Given the description of an element on the screen output the (x, y) to click on. 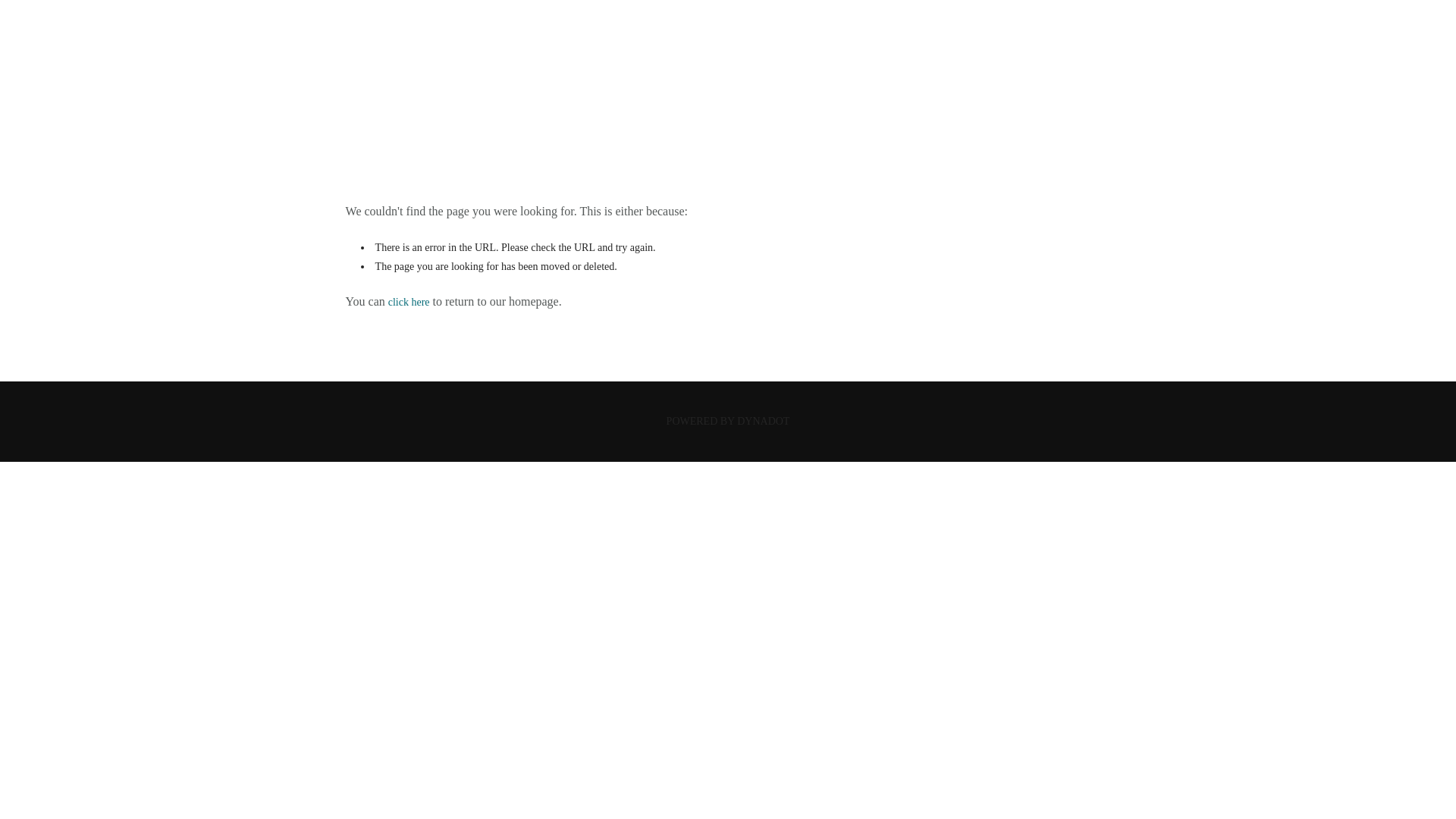
click here (408, 301)
HOME (727, 103)
JOURNEY (727, 48)
POWERED BY DYNADOT (728, 420)
